Given the description of an element on the screen output the (x, y) to click on. 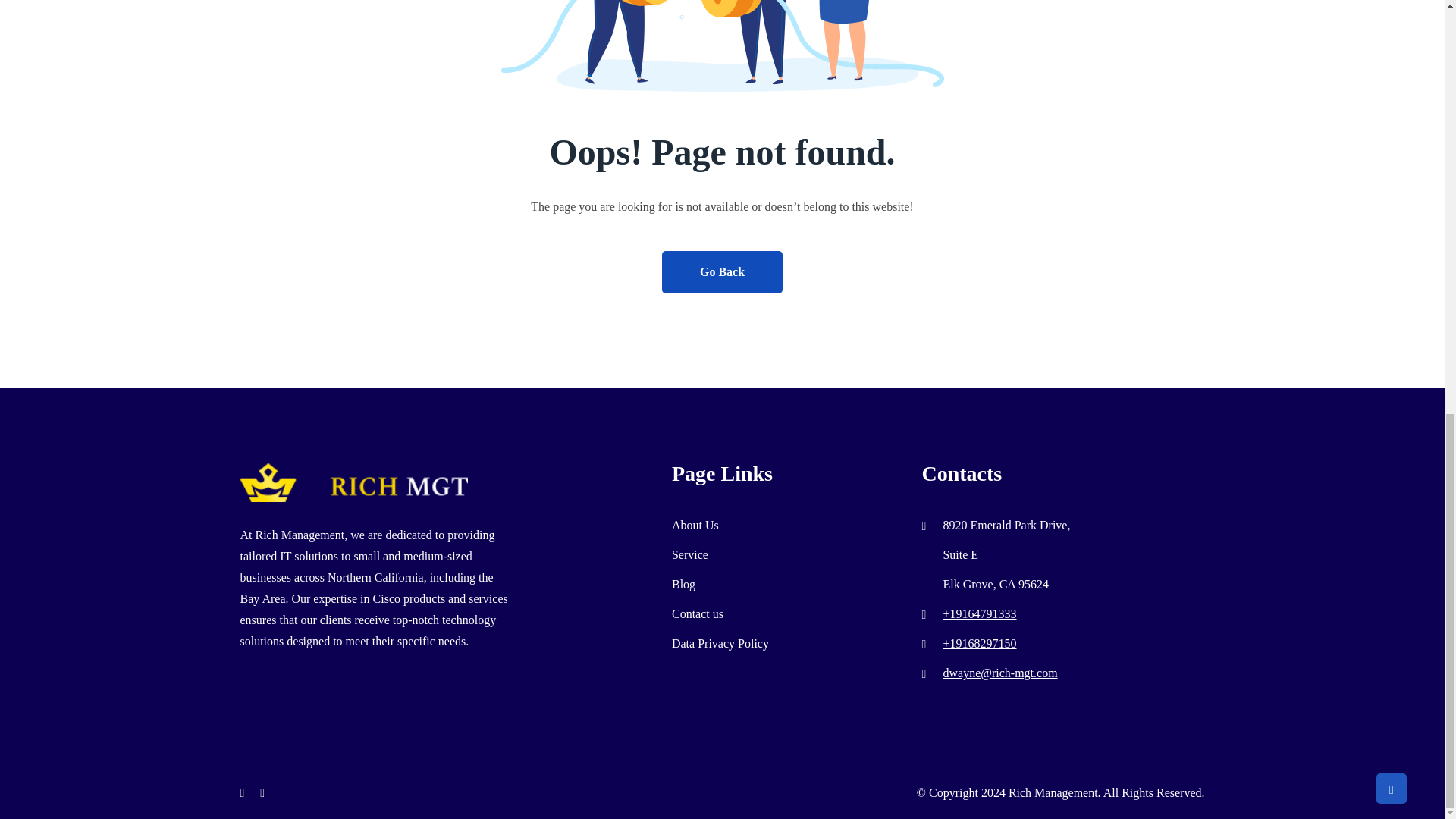
Data Privacy Policy (719, 643)
Service (689, 554)
Go Back (722, 271)
Restly - Footer One 1 (353, 482)
Blog (683, 584)
About Us (695, 524)
Contact us (697, 613)
